Given the description of an element on the screen output the (x, y) to click on. 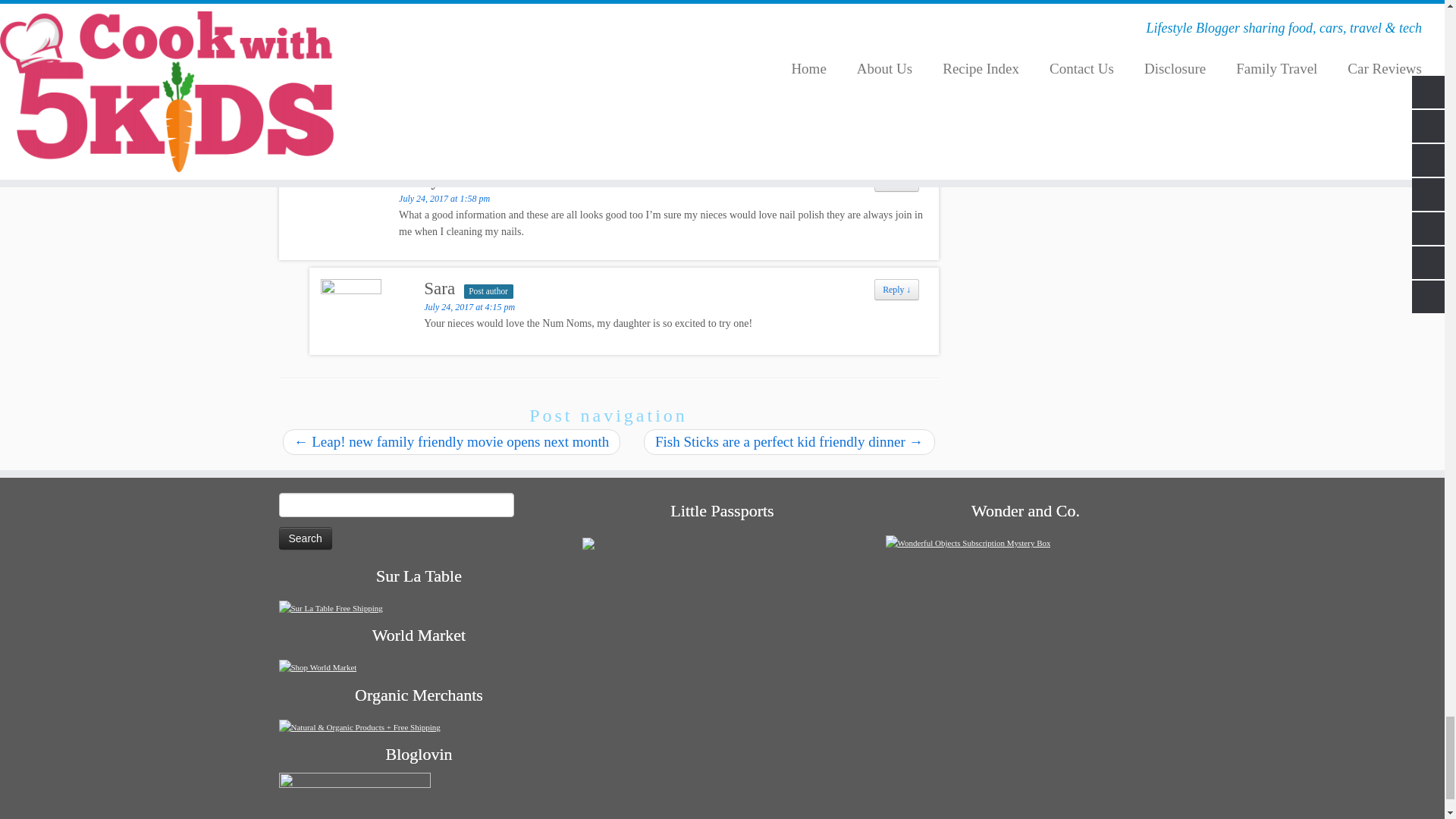
Search (305, 538)
